Given the description of an element on the screen output the (x, y) to click on. 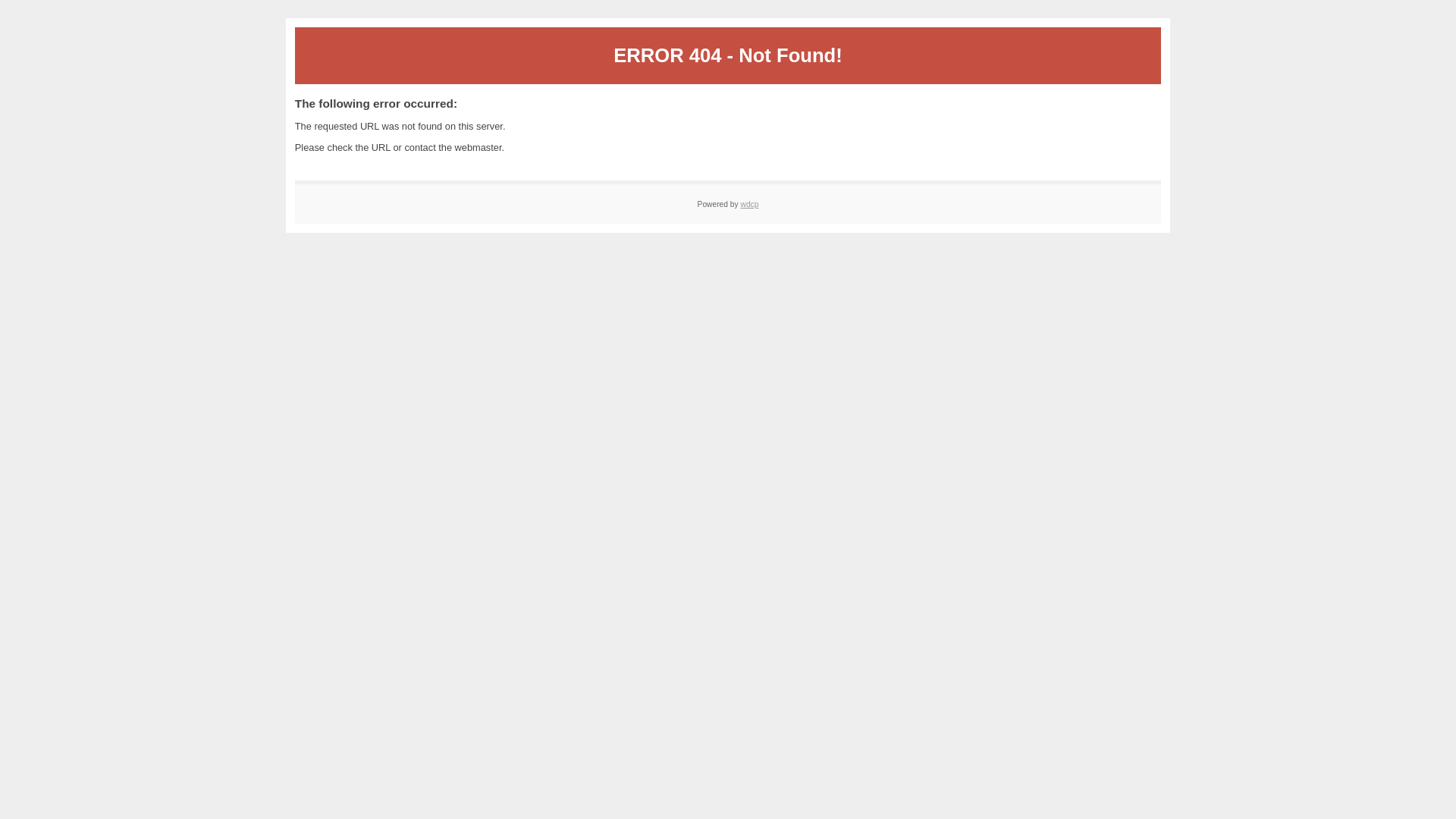
wdcp Element type: text (749, 204)
